Given the description of an element on the screen output the (x, y) to click on. 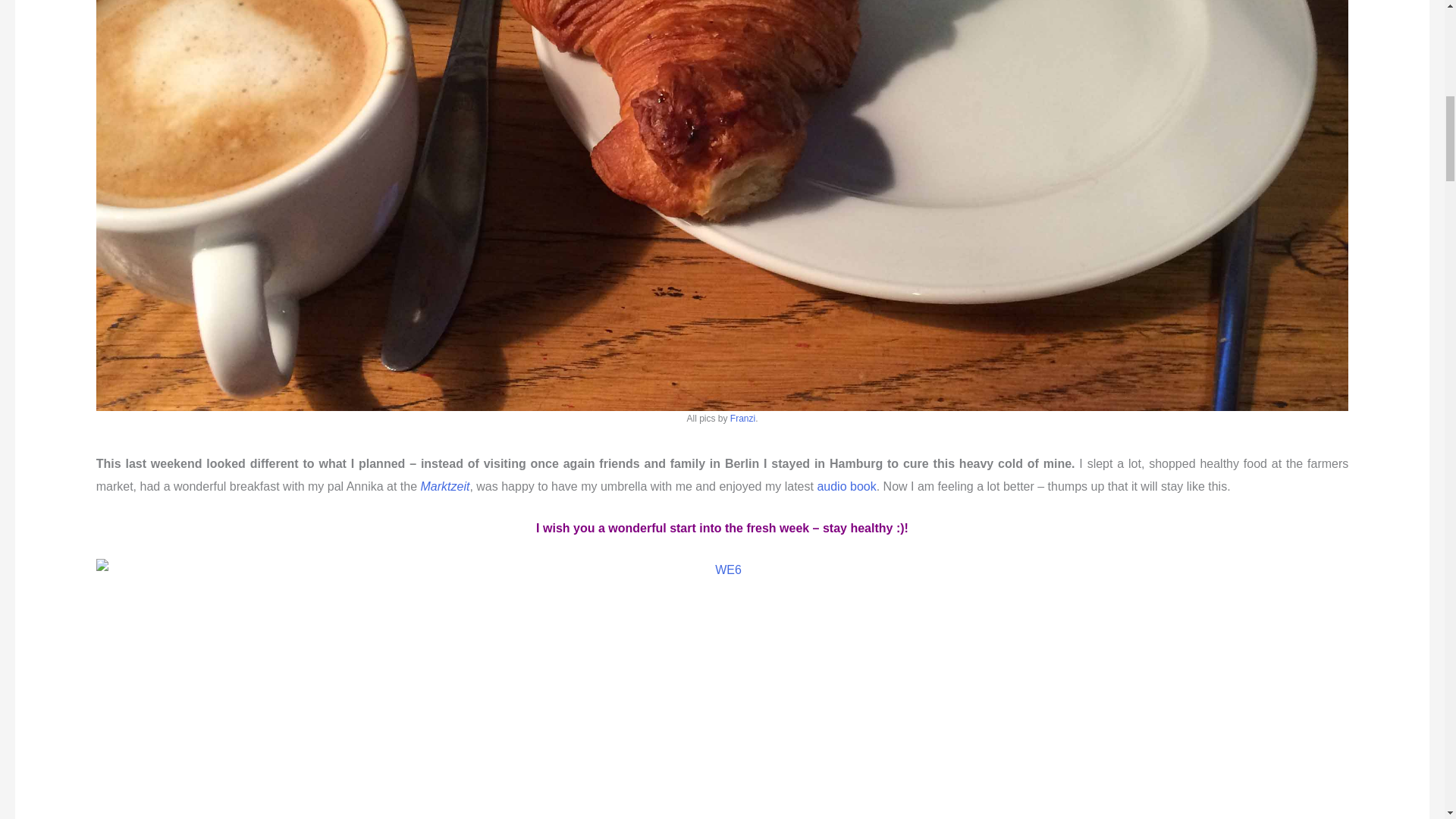
Franzi (742, 418)
audio book (846, 486)
Marktzeit (444, 486)
